Given the description of an element on the screen output the (x, y) to click on. 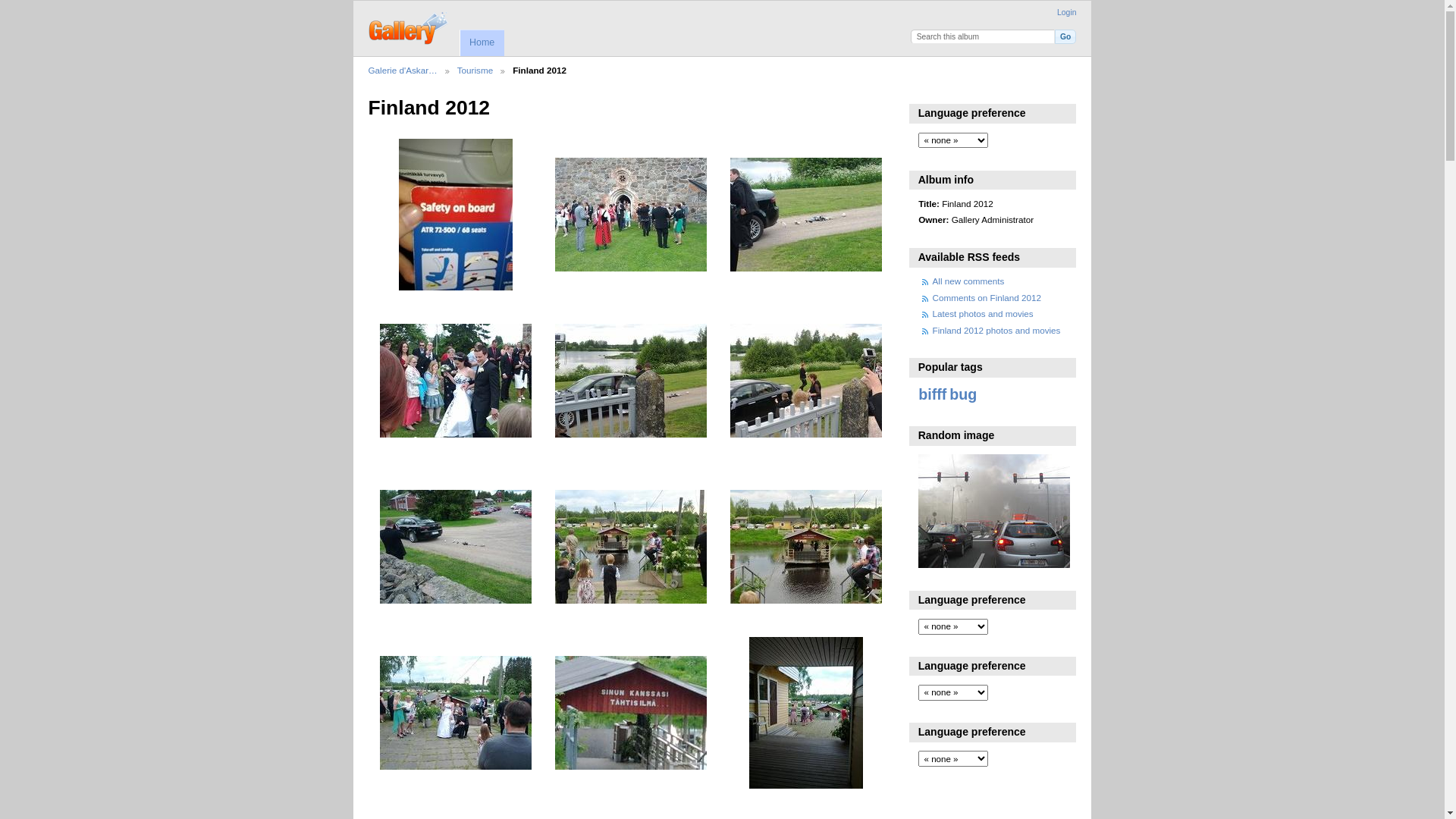
Finland 2012 photos and movies Element type: text (996, 330)
Tourisme Element type: text (474, 70)
bifff Element type: text (932, 393)
Home Element type: text (481, 42)
bug Element type: text (962, 393)
Login Element type: text (1066, 12)
go back to the Gallery home Element type: hover (408, 26)
Comments on Finland 2012 Element type: text (986, 297)
Go Element type: text (1065, 36)
Latest photos and movies Element type: text (982, 313)
All new comments Element type: text (968, 280)
